Given the description of an element on the screen output the (x, y) to click on. 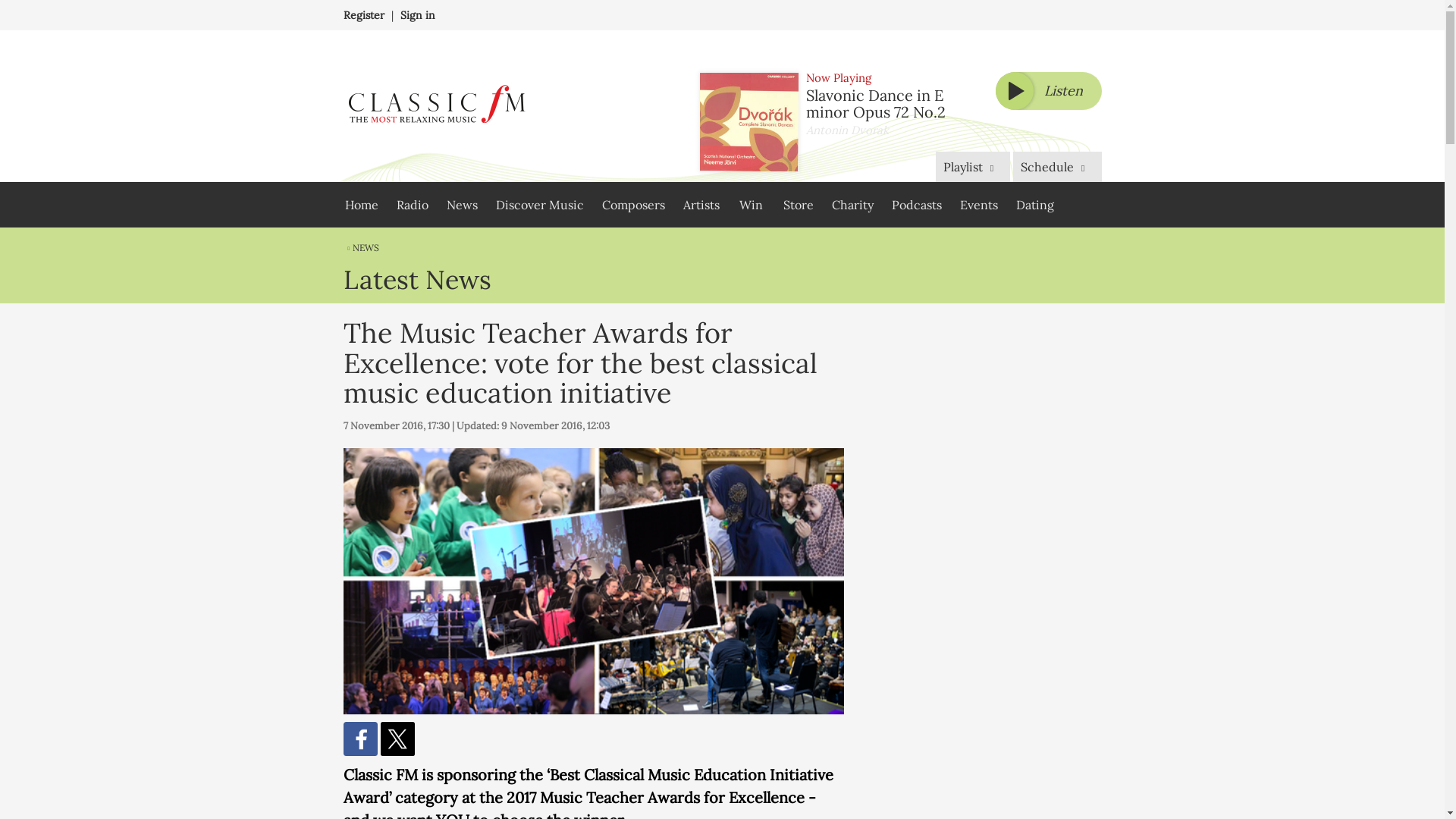
Events (978, 204)
Radio (411, 204)
Sign in (417, 15)
Store (797, 204)
NEWS (360, 247)
Schedule (1056, 166)
Artists (700, 204)
Podcasts (916, 204)
Charity (852, 204)
Win (750, 204)
Composers (633, 204)
Playlist (973, 166)
Classic FM (435, 106)
News (461, 204)
Home (360, 204)
